Given the description of an element on the screen output the (x, y) to click on. 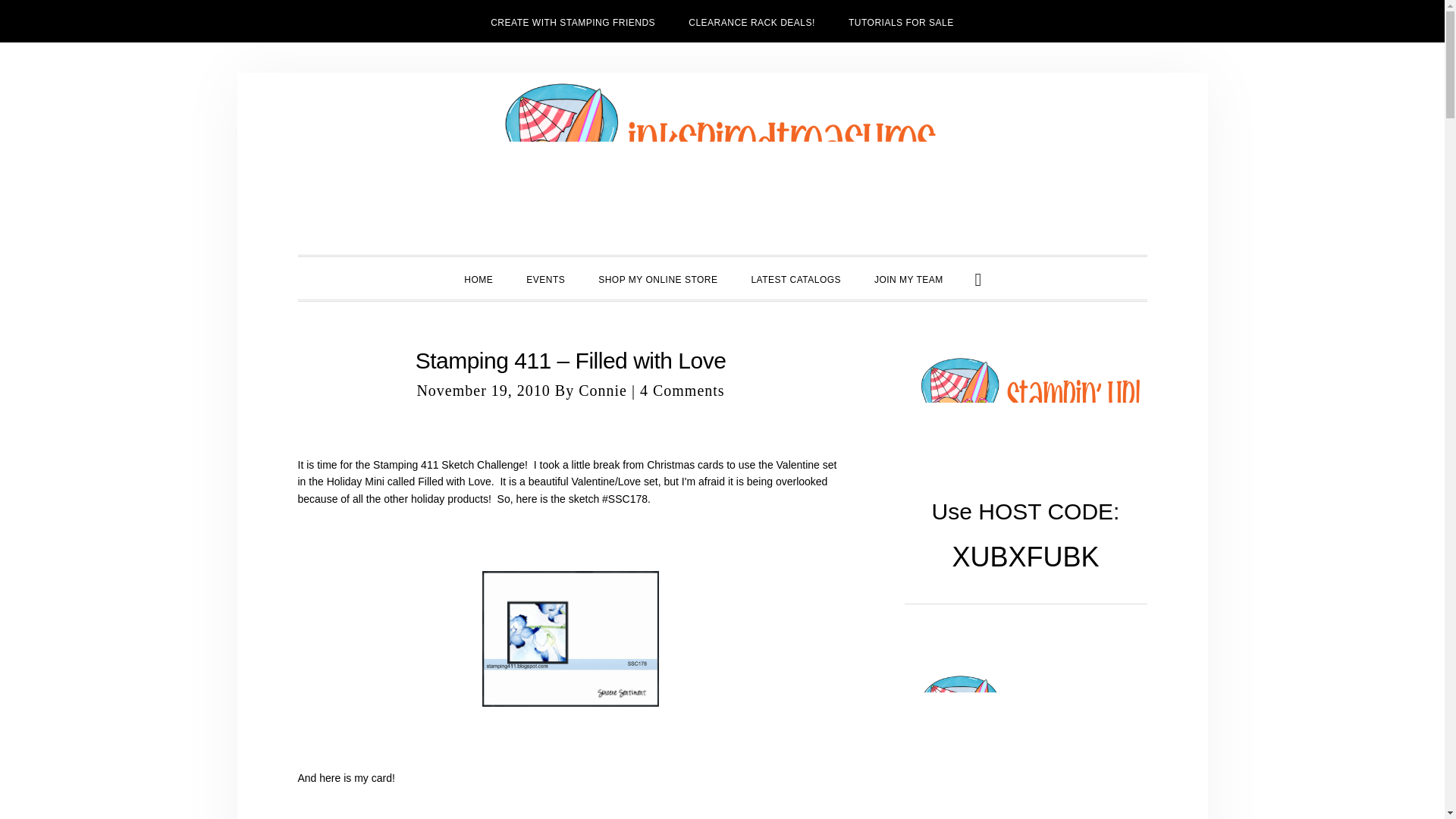
SHOP MY ONLINE STORE (657, 278)
CREATE WITH STAMPING FRIENDS (572, 21)
CLEARANCE RACK DEALS! (750, 21)
EVENTS (545, 278)
Connie (602, 390)
JOIN MY TEAM (908, 278)
LATEST CATALOGS (795, 278)
TUTORIALS FOR SALE (900, 21)
